Given the description of an element on the screen output the (x, y) to click on. 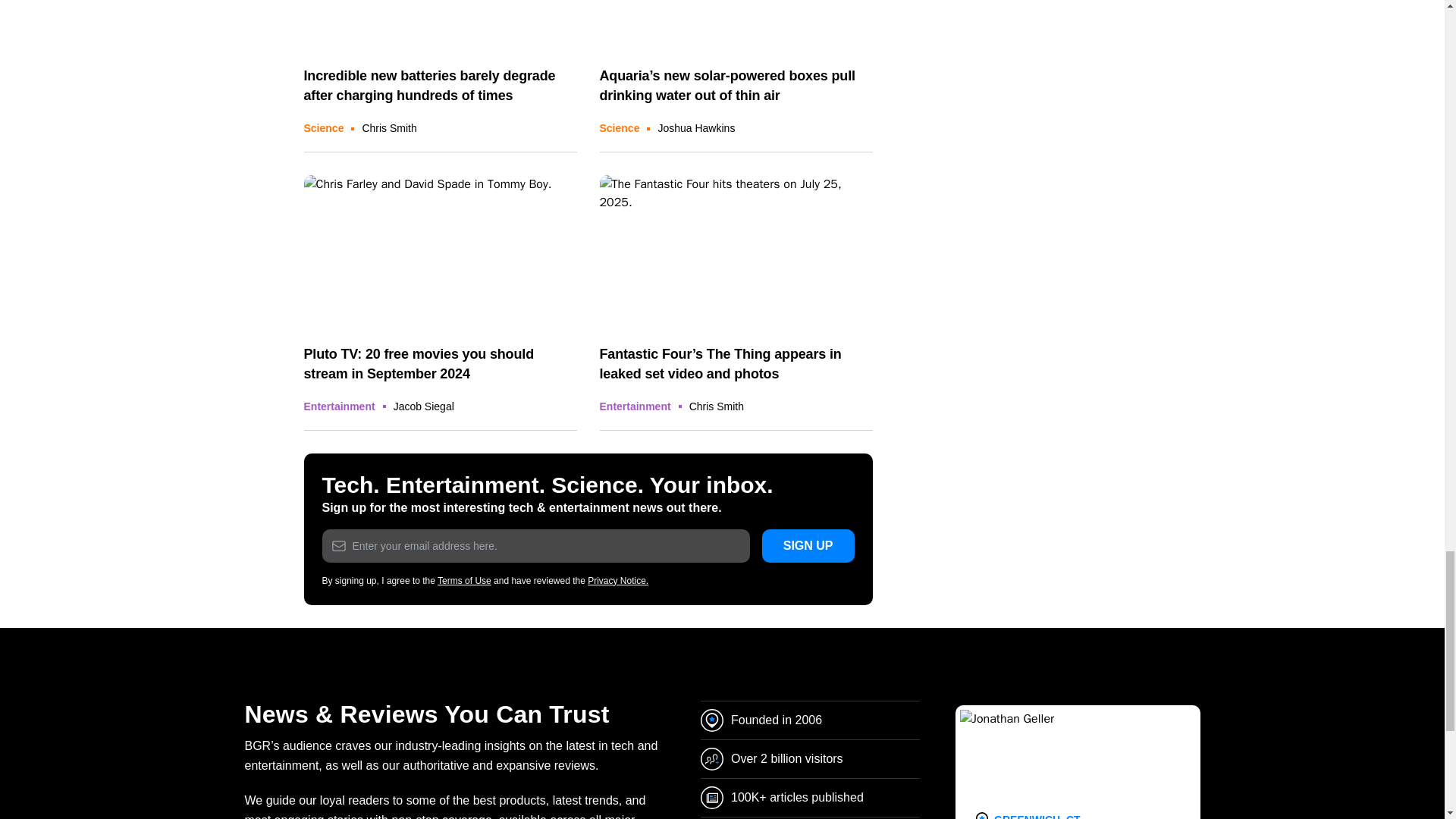
Battery Tech (439, 25)
Posts by Joshua Hawkins (696, 128)
Pluto TV (439, 252)
Posts by Chris Smith (716, 406)
Posts by Jacob Siegal (423, 406)
Posts by Chris Smith (388, 128)
pull clean drinking water out of the air (735, 25)
Fantastic Four (735, 252)
